Given the description of an element on the screen output the (x, y) to click on. 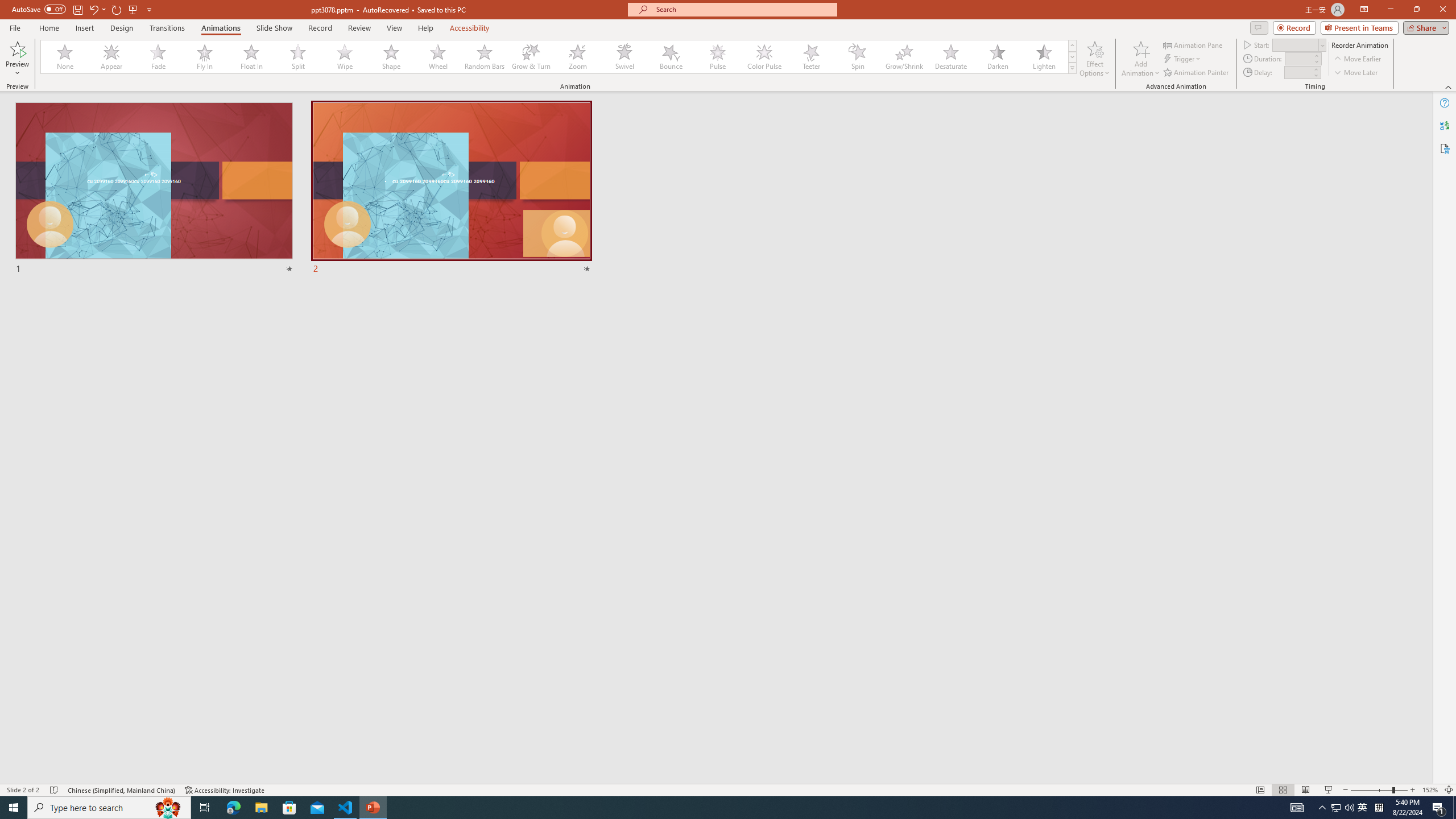
Darken (997, 56)
Swivel (624, 56)
